Given the description of an element on the screen output the (x, y) to click on. 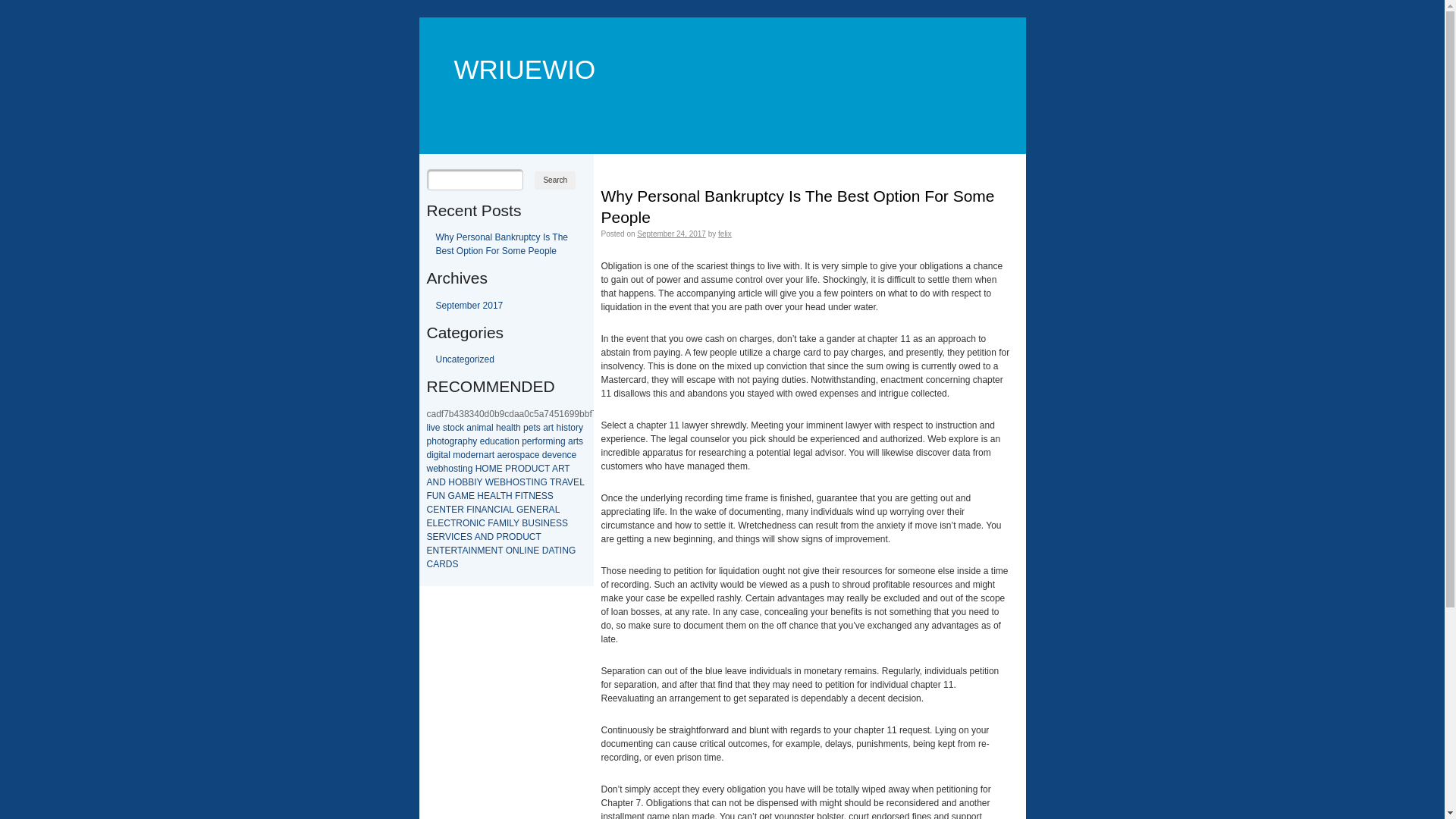
A Element type: text (492, 495)
t Element type: text (459, 468)
A Element type: text (552, 509)
e Element type: text (504, 454)
I Element type: text (468, 550)
c Element type: text (457, 427)
T Element type: text (459, 550)
R Element type: text (558, 481)
U Element type: text (435, 495)
R Element type: text (545, 509)
g Element type: text (452, 441)
H Element type: text (508, 481)
i Element type: text (477, 427)
h Element type: text (517, 427)
T Element type: text (552, 481)
L Element type: text (557, 509)
E Element type: text (526, 509)
g Element type: text (470, 468)
i Element type: text (432, 454)
N Element type: text (532, 509)
U Element type: text (534, 468)
N Element type: text (483, 536)
Search Element type: text (554, 180)
T Element type: text (499, 550)
E Element type: text (538, 495)
D Element type: text (545, 550)
k Element type: text (461, 427)
t Element type: text (534, 427)
a Element type: text (502, 441)
T Element type: text (441, 550)
M Element type: text (502, 522)
e Element type: text (437, 427)
L Element type: text (435, 522)
h Element type: text (470, 441)
I Element type: text (560, 550)
g Element type: text (562, 441)
E Element type: text (429, 550)
F Element type: text (428, 495)
N Element type: text (545, 522)
R Element type: text (458, 522)
V Element type: text (570, 481)
B Element type: text (502, 481)
felix Element type: text (724, 233)
E Element type: text (496, 481)
C Element type: text (456, 536)
C Element type: text (429, 509)
o Element type: text (439, 441)
S Element type: text (469, 536)
E Element type: text (471, 495)
i Element type: text (429, 427)
T Element type: text (448, 509)
C Element type: text (496, 509)
A Element type: text (464, 550)
d Element type: text (486, 441)
N Element type: text (472, 522)
G Element type: text (451, 495)
I Element type: text (507, 522)
O Element type: text (484, 468)
A Element type: text (505, 509)
A Element type: text (436, 563)
S Element type: text (558, 522)
c Element type: text (569, 454)
r Element type: text (476, 454)
i Element type: text (440, 454)
n Element type: text (480, 454)
S Element type: text (455, 563)
n Element type: text (557, 441)
C Element type: text (481, 522)
A Element type: text (550, 550)
o Element type: text (539, 441)
a Element type: text (488, 427)
h Element type: text (558, 427)
G Element type: text (542, 481)
A Element type: text (429, 481)
i Element type: text (508, 441)
u Element type: text (492, 441)
E Element type: text (552, 522)
N Element type: text (536, 481)
N Element type: text (442, 495)
o Element type: text (512, 454)
s Element type: text (455, 468)
s Element type: text (565, 427)
I Element type: text (541, 522)
p Element type: text (428, 441)
M Element type: text (464, 495)
Uncategorized Element type: text (464, 359)
H Element type: text (478, 468)
O Element type: text (520, 468)
n Element type: text (464, 468)
R Element type: text (561, 468)
e Element type: text (529, 441)
a Element type: text (445, 454)
r Element type: text (576, 427)
B Element type: text (524, 522)
R Element type: text (460, 509)
i Element type: text (554, 441)
g Element type: text (436, 454)
A Element type: text (495, 522)
O Element type: text (465, 522)
E Element type: text (536, 550)
o Element type: text (446, 441)
A Element type: text (458, 495)
b Element type: text (440, 468)
A Element type: text (484, 509)
D Element type: text (442, 481)
R Element type: text (514, 468)
L Element type: text (510, 522)
S Element type: text (537, 522)
S Element type: text (564, 522)
a Element type: text (459, 441)
o Element type: text (450, 468)
l Element type: text (427, 427)
y Element type: text (474, 441)
T Element type: text (556, 550)
E Element type: text (463, 536)
N Element type: text (490, 509)
F Element type: text (517, 495)
A Element type: text (564, 481)
E Element type: text (486, 495)
e Element type: text (482, 441)
v Element type: text (554, 454)
v Element type: text (432, 427)
B Element type: text (470, 481)
L Element type: text (510, 509)
T Element type: text (502, 495)
N Element type: text (531, 495)
e Element type: text (574, 454)
R Element type: text (442, 536)
t Element type: text (568, 427)
e Element type: text (549, 454)
C Element type: text (540, 468)
S Element type: text (429, 536)
r Element type: text (549, 427)
e Element type: text (558, 454)
A Element type: text (477, 536)
d Element type: text (544, 454)
r Element type: text (574, 441)
U Element type: text (525, 536)
O Element type: text (508, 550)
c Element type: text (532, 454)
h Element type: text (445, 468)
l Element type: text (512, 427)
M Element type: text (492, 468)
V Element type: text (448, 536)
U Element type: text (530, 522)
H Element type: text (508, 495)
S Element type: text (544, 495)
N Element type: text (515, 550)
E Element type: text (576, 481)
a Element type: text (570, 441)
N Element type: text (473, 550)
s Element type: text (444, 427)
T Element type: text (452, 522)
E Element type: text (454, 509)
I Element type: text (452, 536)
R Element type: text (505, 536)
n Element type: text (473, 427)
a Element type: text (527, 454)
y Element type: text (580, 427)
E Element type: text (499, 468)
p Element type: text (464, 441)
a Element type: text (499, 454)
n Element type: text (564, 454)
e Element type: text (530, 427)
E Element type: text (539, 509)
t Element type: text (443, 441)
a Element type: text (468, 427)
o Element type: text (511, 441)
L Element type: text (521, 550)
F Element type: text (468, 509)
p Element type: text (524, 441)
r Element type: text (490, 454)
m Element type: text (549, 441)
N Element type: text (564, 550)
B Element type: text (464, 481)
I Element type: text (477, 522)
l Element type: text (449, 454)
l Element type: text (492, 427)
e Element type: text (536, 454)
I Element type: text (531, 481)
O Element type: text (458, 481)
September 24, 2017 Element type: text (671, 233)
c Element type: text (497, 441)
I Element type: text (525, 550)
R Element type: text (454, 550)
M Element type: text (480, 550)
H Element type: text (451, 481)
E Element type: text (448, 550)
E Element type: text (440, 522)
F Element type: text (489, 522)
S Element type: text (522, 481)
T Element type: text (546, 468)
R Element type: text (442, 563)
t Element type: text (577, 441)
a Element type: text (486, 454)
C Element type: text (532, 536)
o Element type: text (462, 454)
N Element type: text (442, 509)
I Element type: text (474, 481)
D Element type: text (448, 563)
O Element type: text (515, 481)
N Element type: text (477, 509)
D Element type: text (489, 536)
S Element type: text (550, 495)
r Element type: text (508, 454)
t Element type: text (448, 427)
i Element type: text (461, 468)
I Element type: text (501, 509)
a Element type: text (545, 427)
h Element type: text (498, 427)
o Element type: text (452, 427)
G Element type: text (519, 509)
D Element type: text (518, 536)
d Element type: text (467, 454)
o Element type: text (572, 427)
d Element type: text (428, 454)
E Element type: text (429, 522)
e Element type: text (435, 468)
t Element type: text (505, 441)
E Element type: text (487, 550)
t Element type: text (514, 427)
Why Personal Bankruptcy Is The Best Option For Some People Element type: text (501, 244)
A Element type: text (555, 468)
Y Element type: text (479, 481)
m Element type: text (482, 427)
w Element type: text (429, 468)
t Element type: text (493, 454)
T Element type: text (527, 481)
L Element type: text (497, 495)
p Element type: text (521, 454)
W Element type: text (489, 481)
T Element type: text (537, 536)
September 2017 Element type: text (468, 305)
I Element type: text (521, 495)
i Element type: text (562, 427)
P Element type: text (498, 536)
G Element type: text (571, 550)
P Element type: text (508, 468)
C Element type: text (446, 522)
m Element type: text (456, 454)
a Element type: text (508, 427)
p Element type: text (525, 427)
f Element type: text (536, 441)
T Element type: text (525, 495)
t Element type: text (441, 454)
I Element type: text (473, 509)
s Element type: text (580, 441)
N Element type: text (494, 550)
n Element type: text (516, 441)
T Element type: text (566, 468)
e Element type: text (503, 427)
h Element type: text (433, 441)
C Element type: text (429, 563)
N Element type: text (530, 550)
r Element type: text (533, 441)
r Element type: text (455, 441)
s Element type: text (538, 427)
H Element type: text (479, 495)
O Element type: text (511, 536)
r Element type: text (544, 441)
N Element type: text (436, 481)
L Element type: text (581, 481)
E Element type: text (436, 509)
N Element type: text (436, 550)
s Element type: text (516, 454)
t Element type: text (552, 427)
E Element type: text (436, 536)
D Element type: text (527, 468)
e Element type: text (473, 454)
WRIUEWIO Element type: text (516, 46)
Y Element type: text (516, 522)
